Given the description of an element on the screen output the (x, y) to click on. 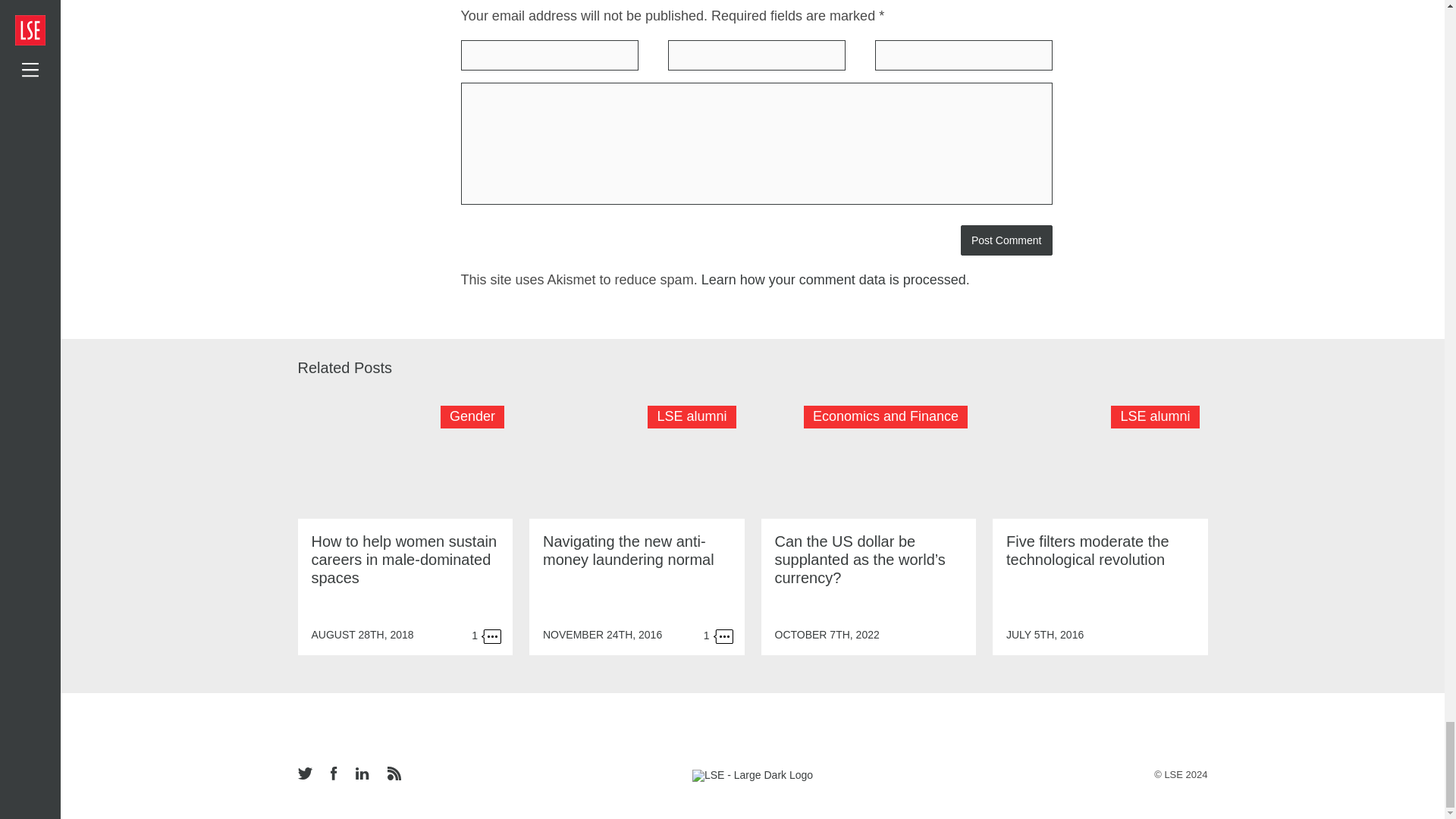
Post Comment (1006, 240)
rss (393, 774)
linkedin (361, 774)
Learn how your comment data is processed (833, 279)
Post Comment (1006, 240)
